Given the description of an element on the screen output the (x, y) to click on. 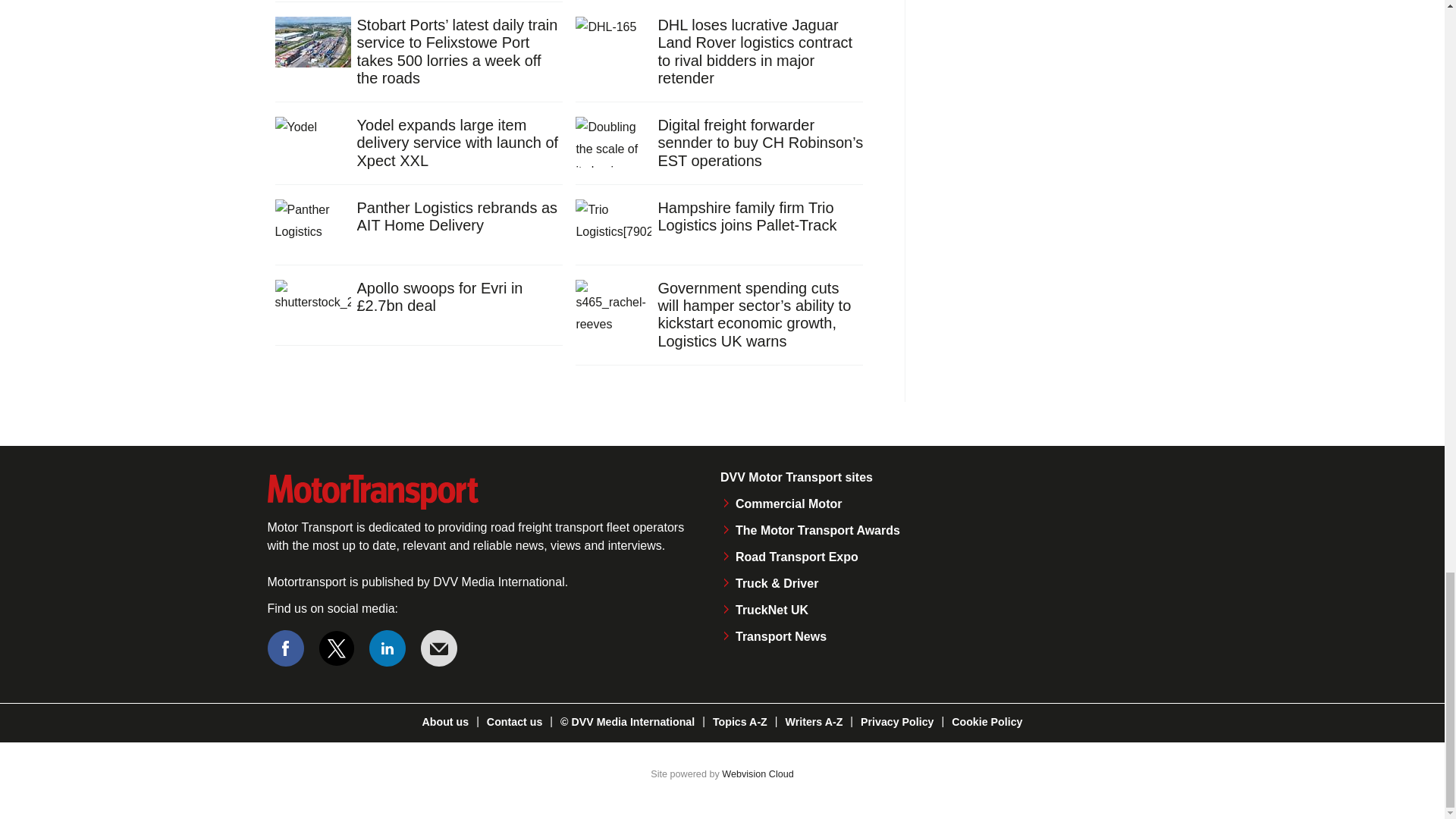
Connect with us on Linked in (387, 647)
Connect with us on Twitter (336, 647)
Connect with us on Facebook (284, 647)
Email us (438, 647)
